Given the description of an element on the screen output the (x, y) to click on. 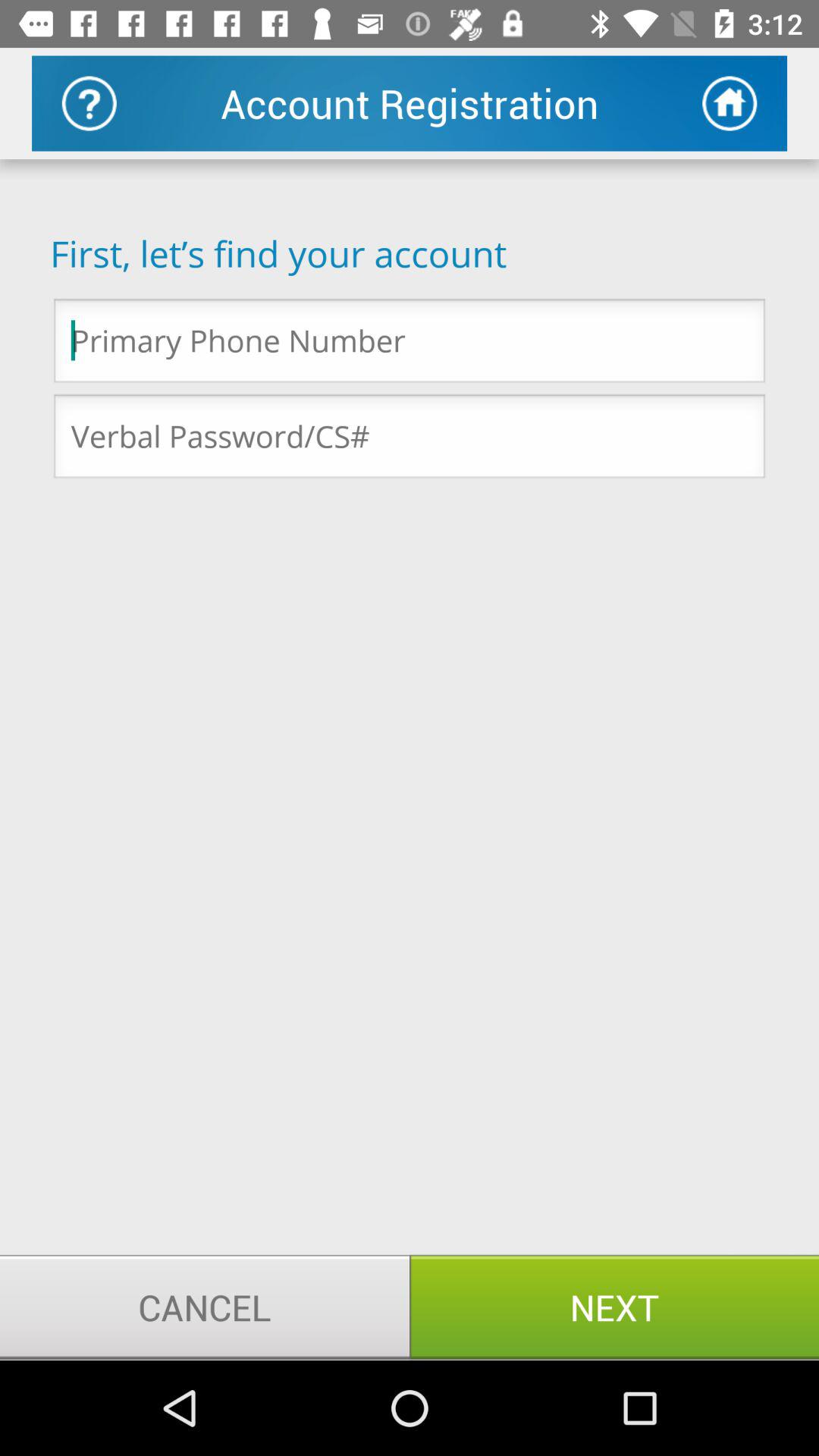
open the next at the bottom right corner (614, 1307)
